Given the description of an element on the screen output the (x, y) to click on. 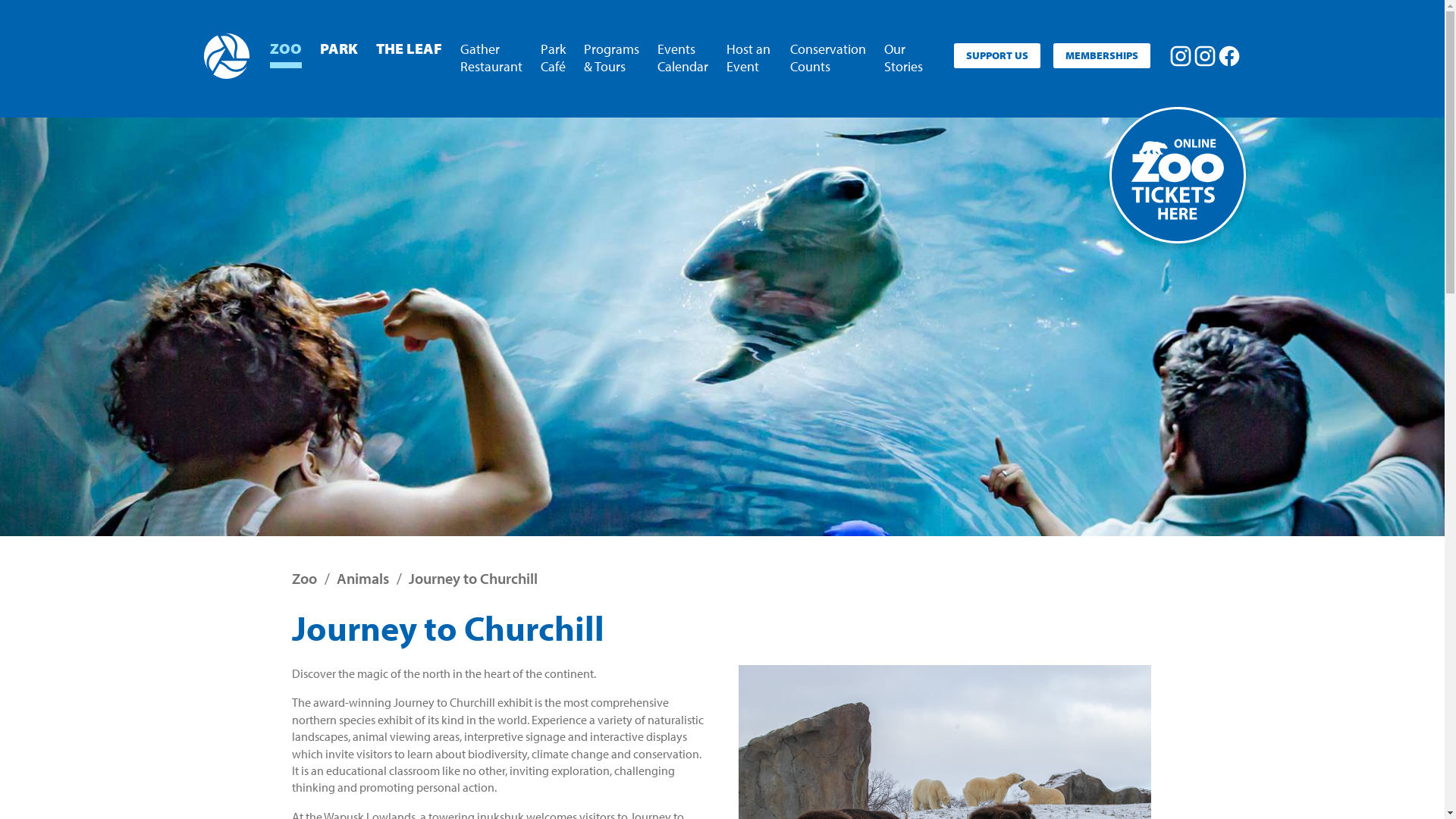
Animals Element type: text (362, 577)
PARK Element type: text (338, 46)
Buy Zoo Tickets Element type: text (1184, 182)
SUPPORT US Element type: text (996, 56)
Assiniboine Park Conservancy Element type: hover (225, 55)
Events Calendar Element type: text (682, 55)
Host an Event Element type: text (748, 55)
Gather Restaurant Element type: text (491, 55)
THE LEAF Element type: text (409, 46)
Programs & Tours Element type: text (611, 55)
Zoo Element type: text (303, 577)
Journey to Churchill Element type: text (471, 577)
Follow us on Facebook Element type: hover (1228, 55)
Conservation Counts Element type: text (828, 55)
Our Stories Element type: text (906, 55)
Follow us on Assiniboine Park Zoo Instagram Element type: hover (1179, 55)
ZOO Element type: text (285, 46)
Follow us on Assiniboine Park Instagram Element type: hover (1204, 55)
MEMBERSHIPS Element type: text (1100, 56)
